Given the description of an element on the screen output the (x, y) to click on. 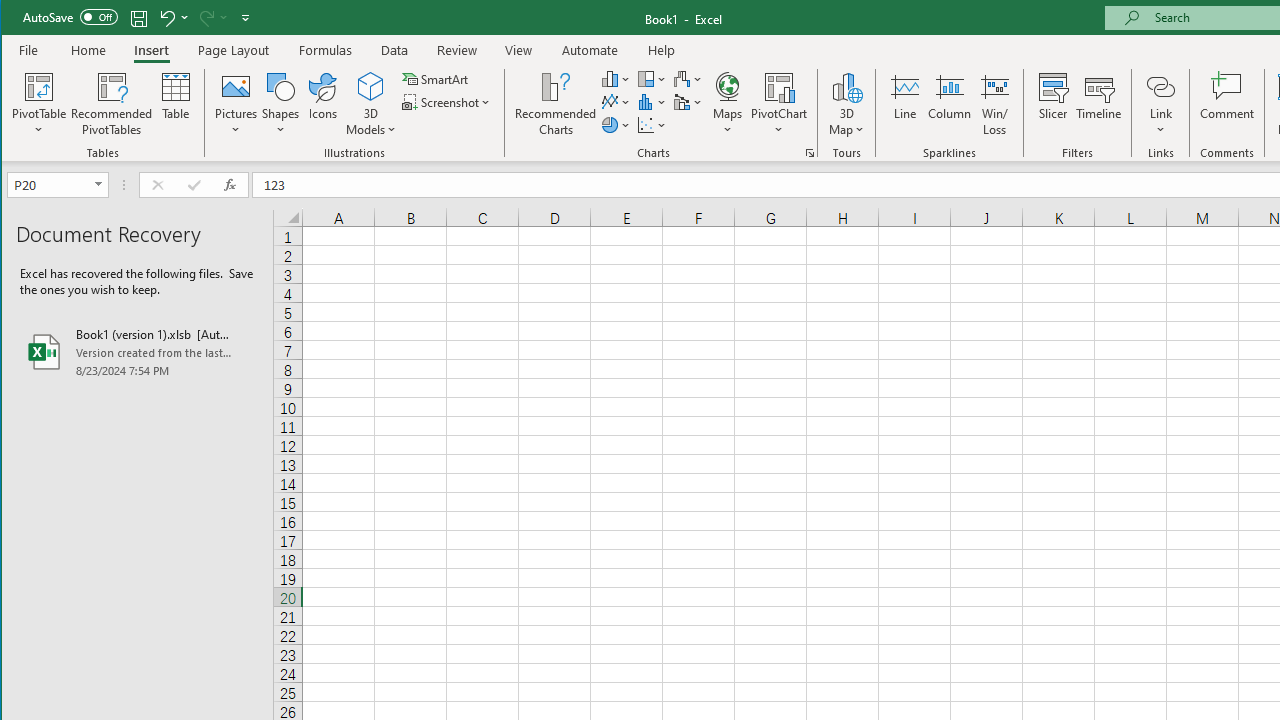
Icons (323, 104)
Shapes (280, 104)
Insert Hierarchy Chart (652, 78)
Insert Column or Bar Chart (616, 78)
Insert Statistic Chart (652, 101)
Table (175, 104)
Insert Line or Area Chart (616, 101)
Insert Scatter (X, Y) or Bubble Chart (652, 124)
Insert Pie or Doughnut Chart (616, 124)
Book1 (version 1).xlsb  [AutoRecovered] (137, 352)
